Given the description of an element on the screen output the (x, y) to click on. 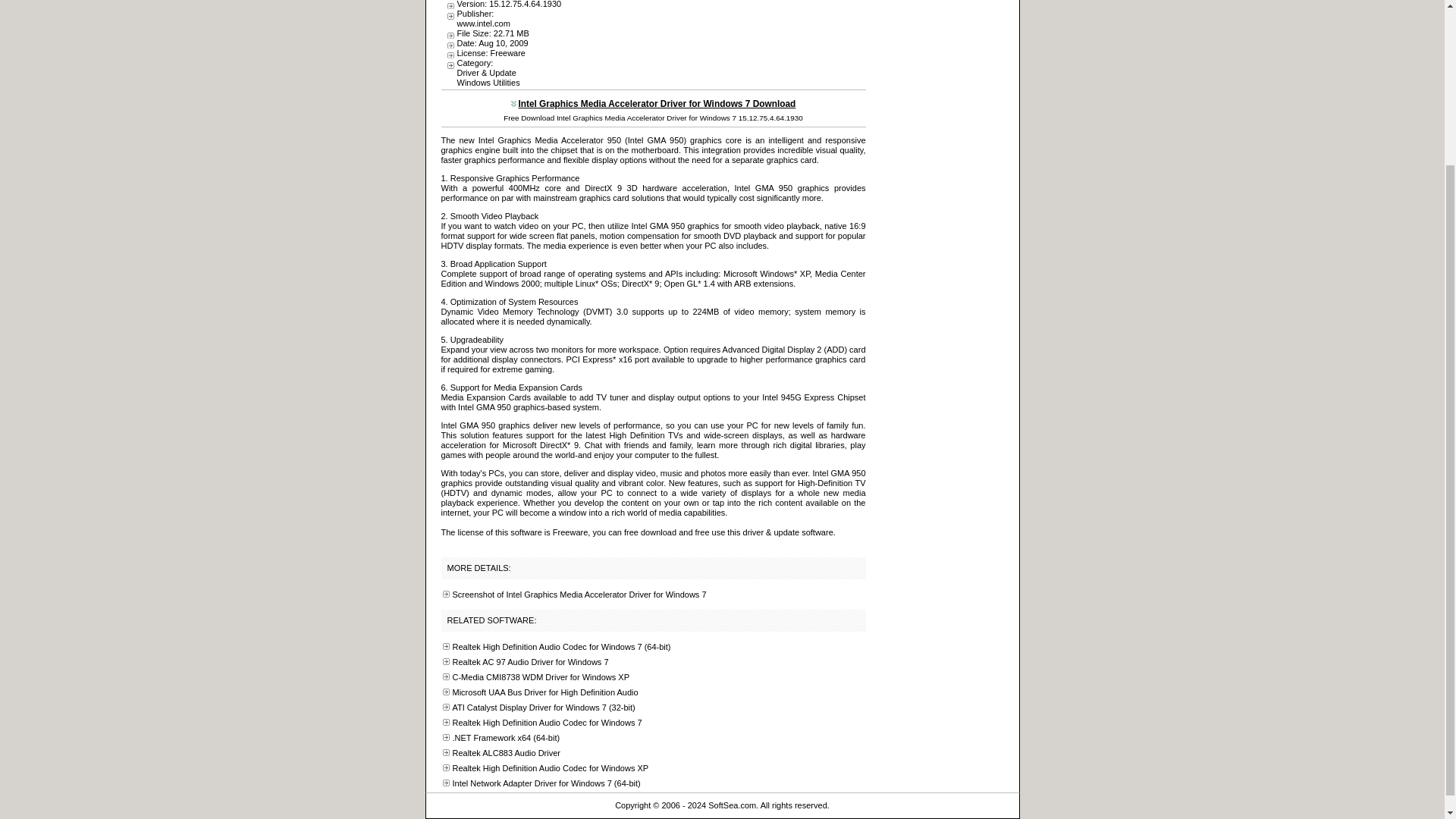
Realtek High Definition Audio Codec for Windows XP (549, 768)
Microsoft UAA Bus Driver for High Definition Audio (544, 691)
Realtek AC 97 Audio Driver for Windows 7 (529, 661)
C-Media CMI8738 WDM Driver for Windows XP (539, 676)
Realtek ALC883 Audio Driver (505, 752)
Realtek High Definition Audio Codec for Windows 7 (546, 722)
Advertisement (727, 29)
